Given the description of an element on the screen output the (x, y) to click on. 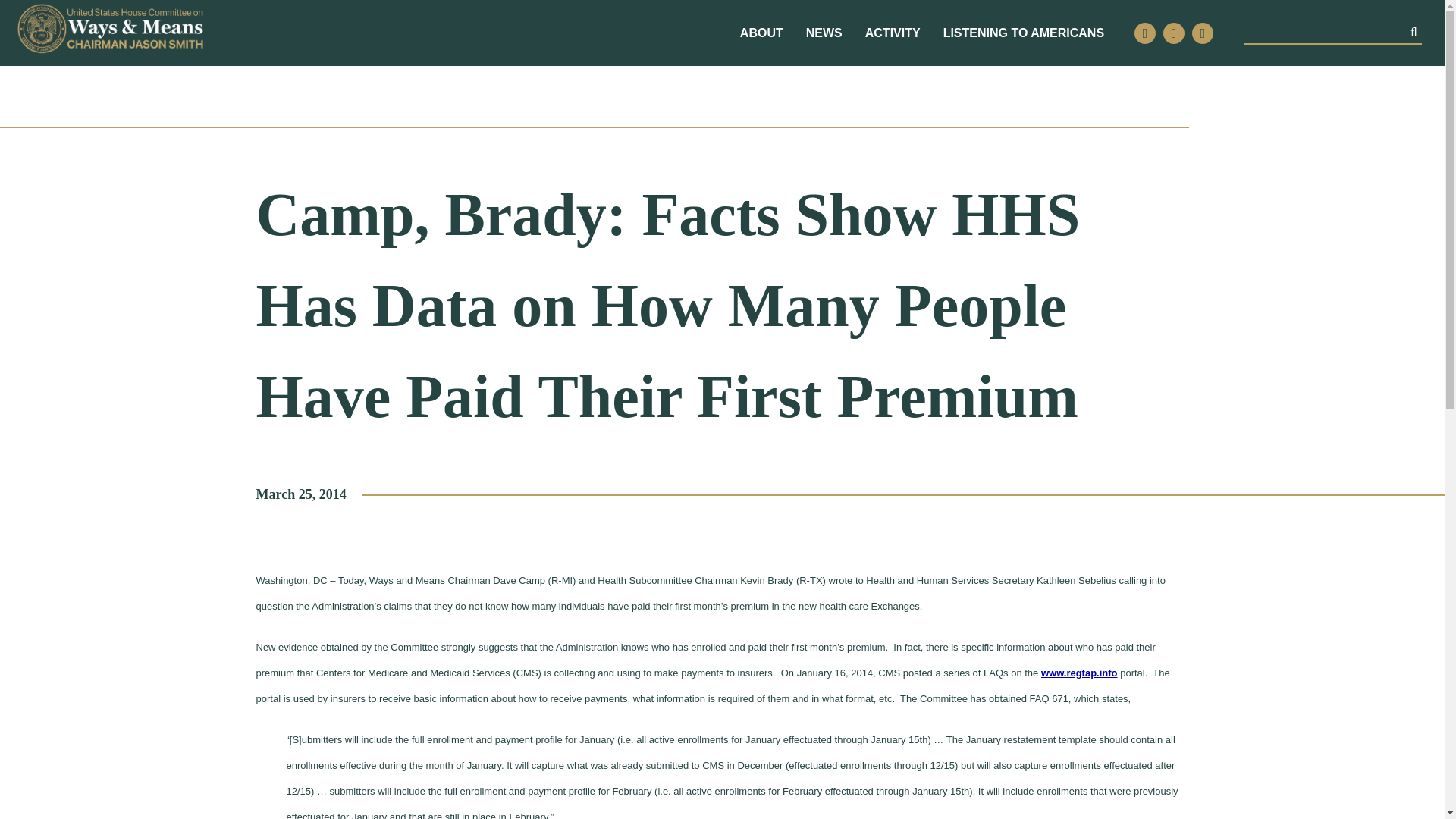
www.regtap.info (1079, 672)
ABOUT (761, 33)
Twitter (1145, 33)
Youtube (1202, 33)
LISTENING TO AMERICANS (1023, 33)
Instagram (1174, 33)
NEWS (824, 33)
ACTIVITY (892, 33)
